Given the description of an element on the screen output the (x, y) to click on. 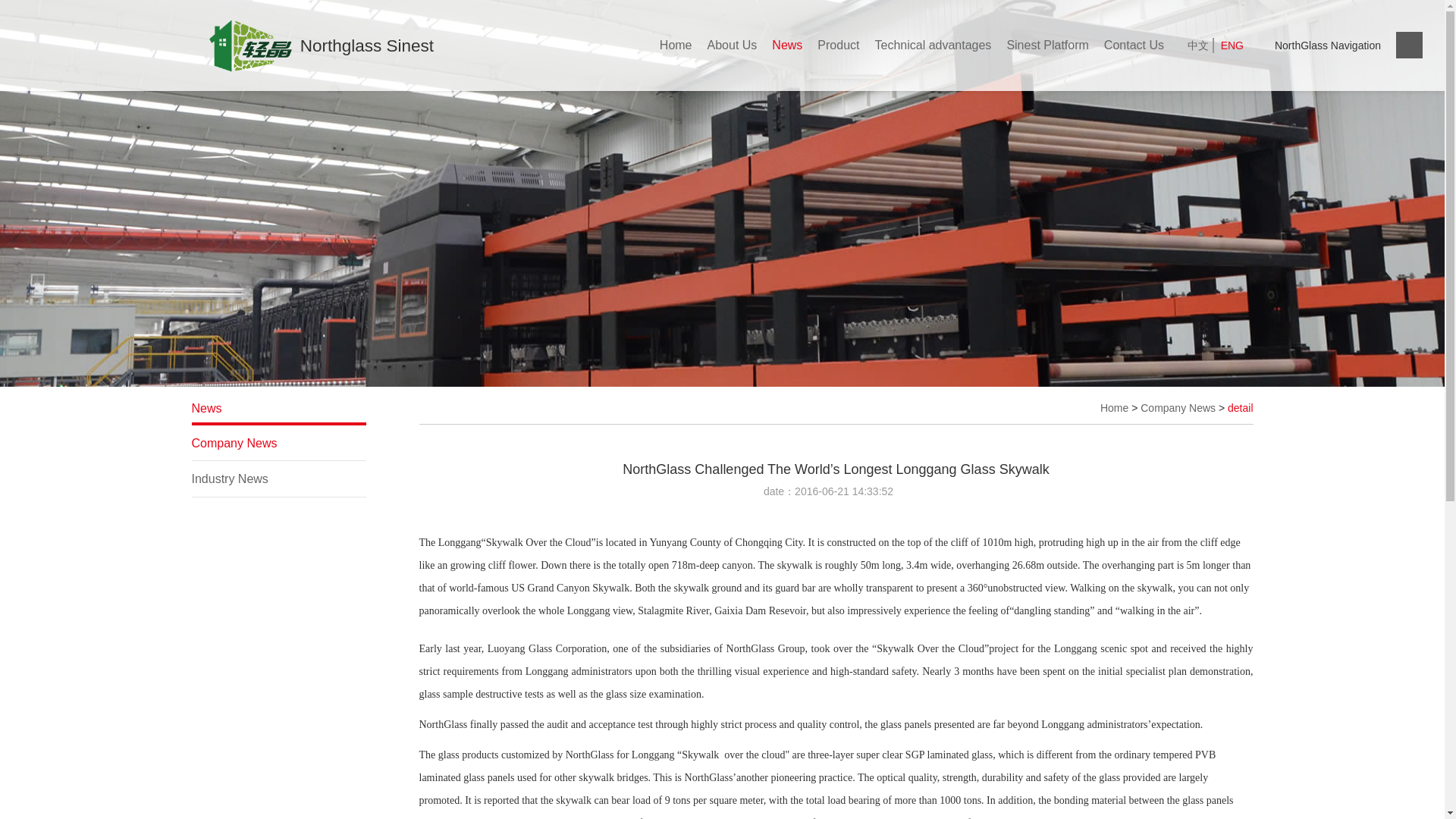
Luoyang North Glass Sinest Technology Co., Ltd. (263, 53)
Industry News (277, 478)
Company News (1177, 408)
Sinest Platform (1047, 44)
About Us (732, 44)
Company News (277, 443)
About Us (732, 44)
Technical advantages (932, 44)
ENG (1232, 45)
Industry News (277, 478)
